Given the description of an element on the screen output the (x, y) to click on. 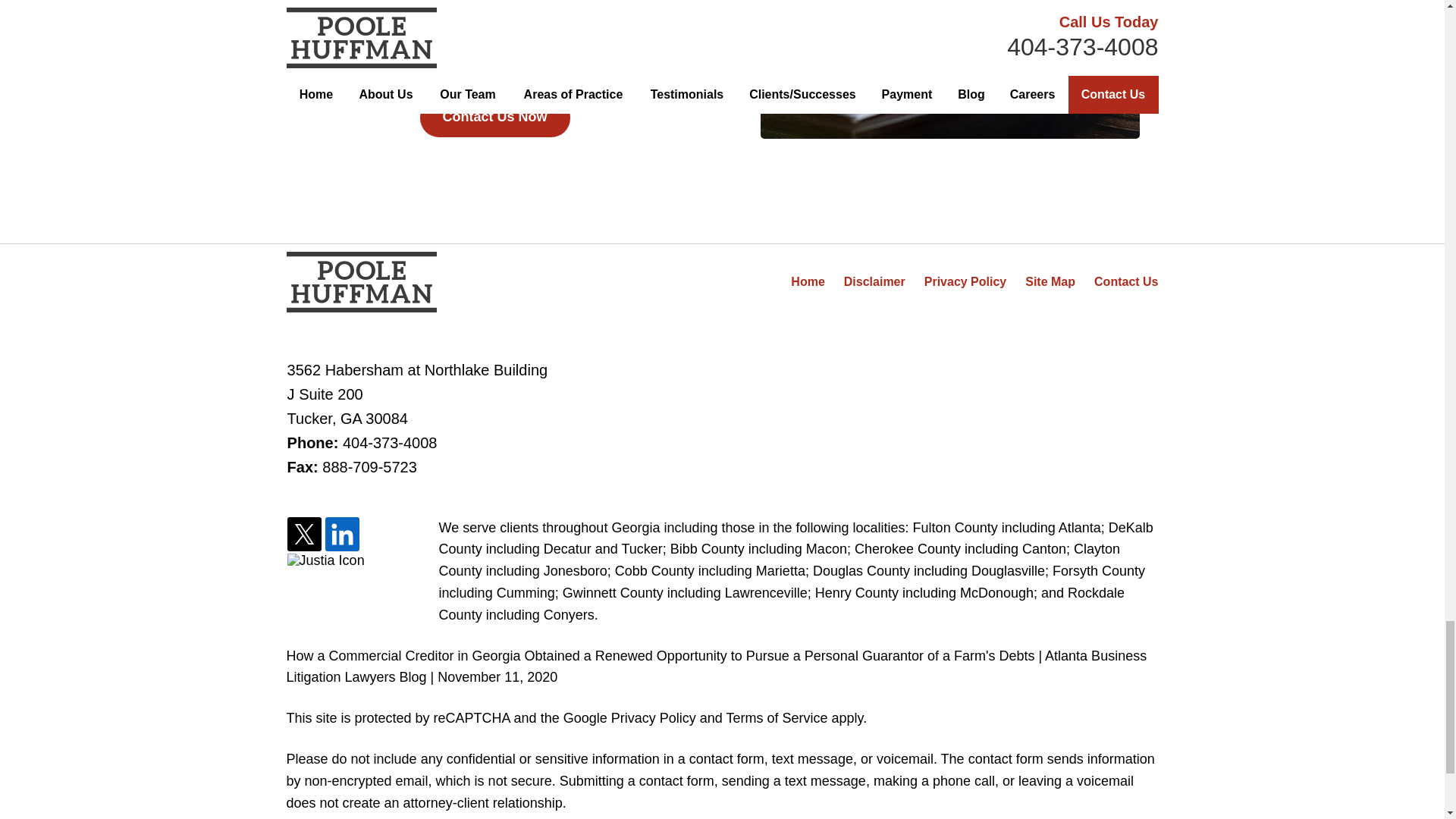
Twitter (303, 534)
Justia (325, 560)
Linkedin (341, 534)
